Given the description of an element on the screen output the (x, y) to click on. 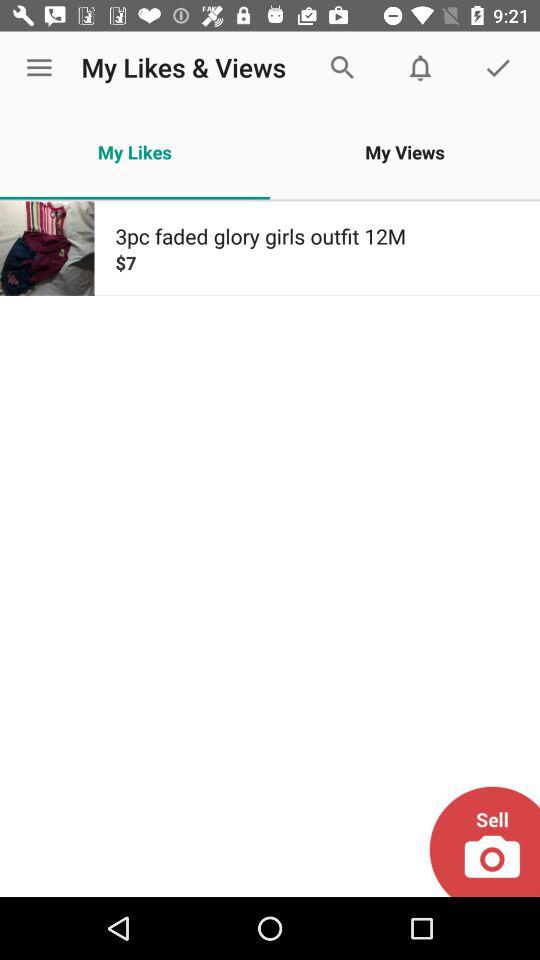
click app to the left of my likes & views (39, 67)
